Given the description of an element on the screen output the (x, y) to click on. 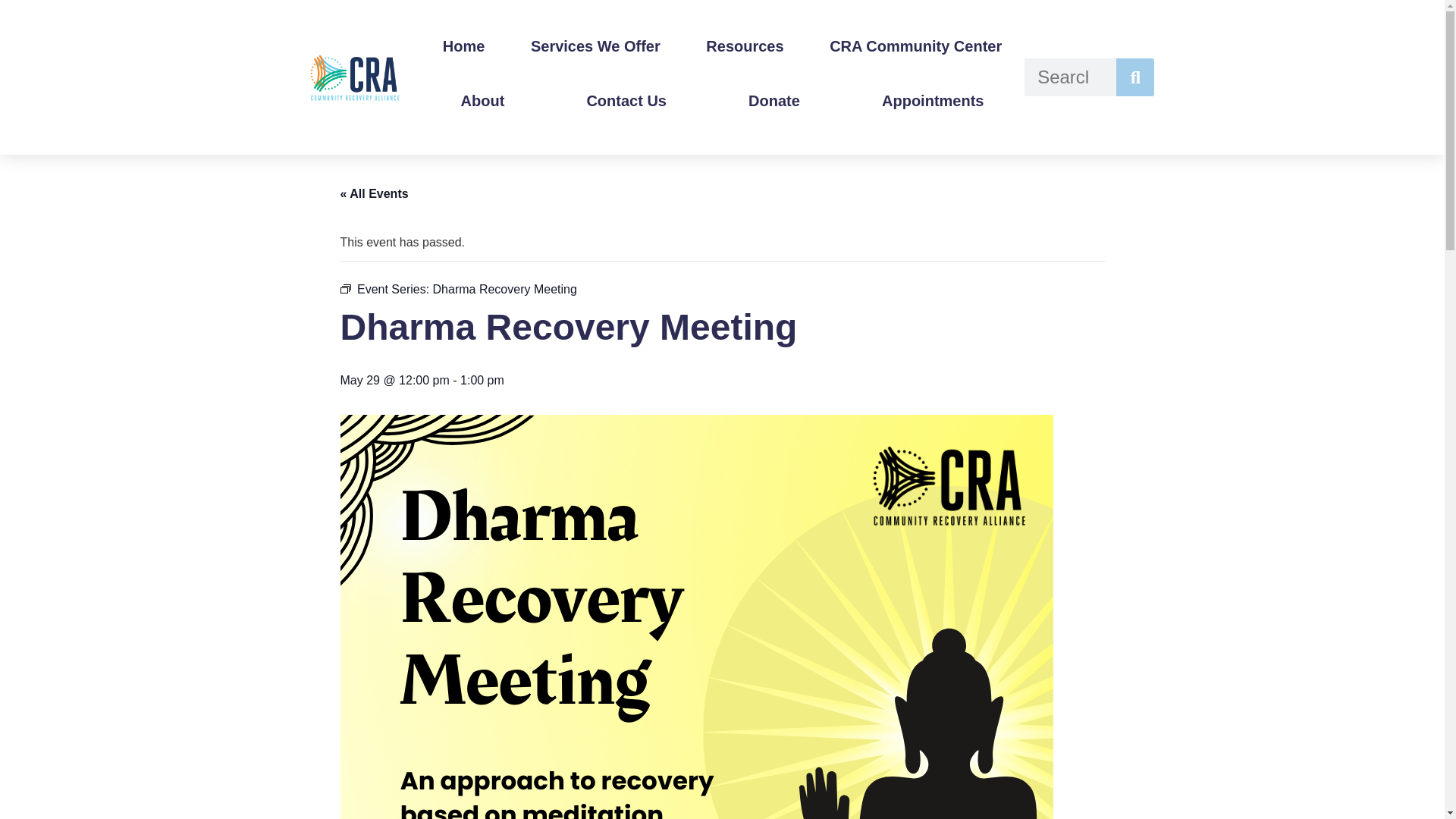
Event Series (344, 288)
Contact Us (625, 100)
Resources (744, 45)
Appointments (933, 100)
About (483, 100)
Donate (774, 100)
Home (464, 45)
Services We Offer (595, 45)
CRA Community Center (915, 45)
